Given the description of an element on the screen output the (x, y) to click on. 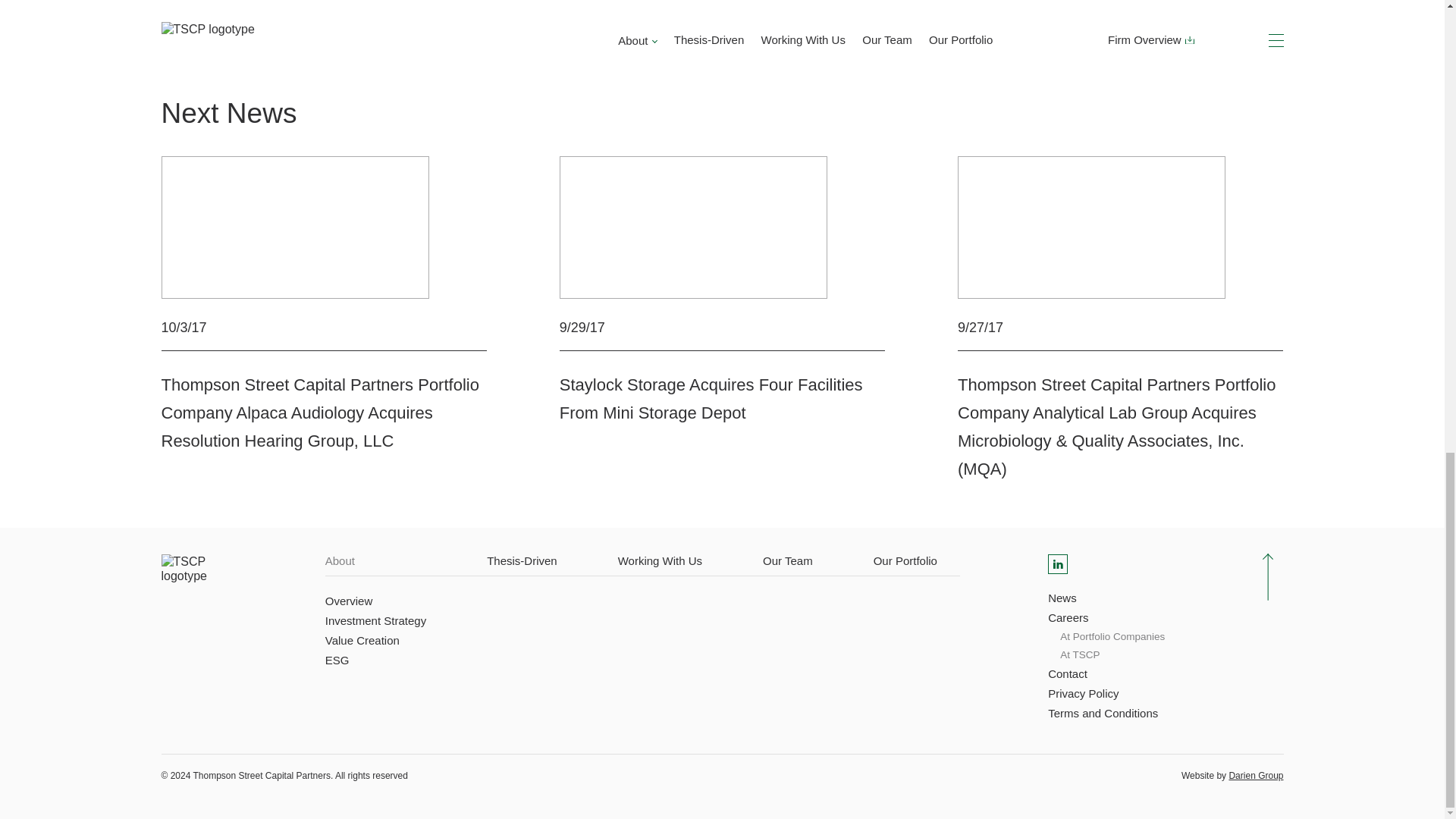
Contact (1067, 673)
Overview (348, 600)
Our Team (787, 560)
Careers (1067, 618)
At TSCP (1079, 655)
At Portfolio Companies (1111, 637)
Investment Strategy (375, 620)
Working With Us (659, 560)
News (1062, 598)
Our Portfolio (905, 560)
